Given the description of an element on the screen output the (x, y) to click on. 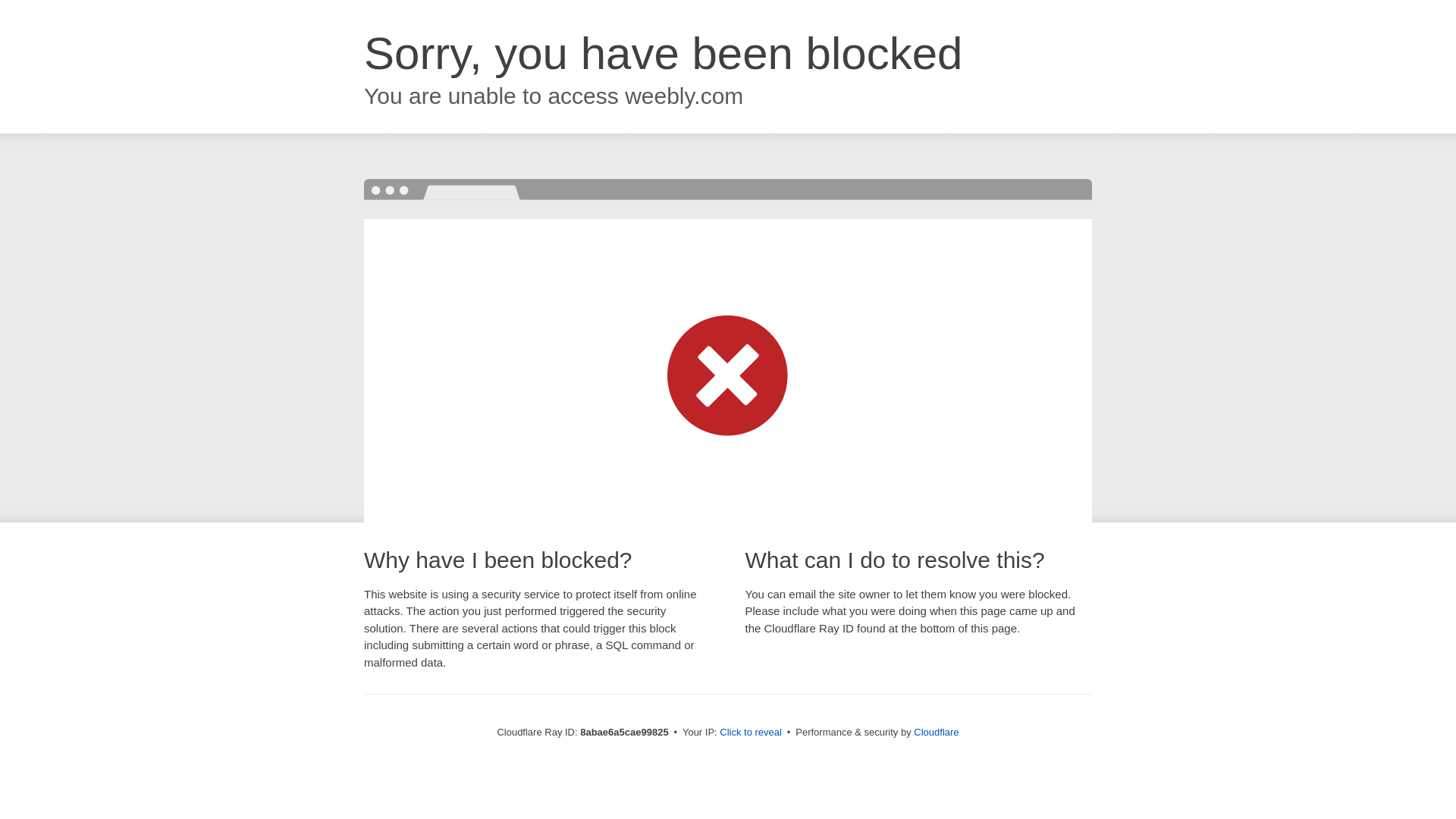
Click to reveal (750, 732)
Cloudflare (936, 731)
